Given the description of an element on the screen output the (x, y) to click on. 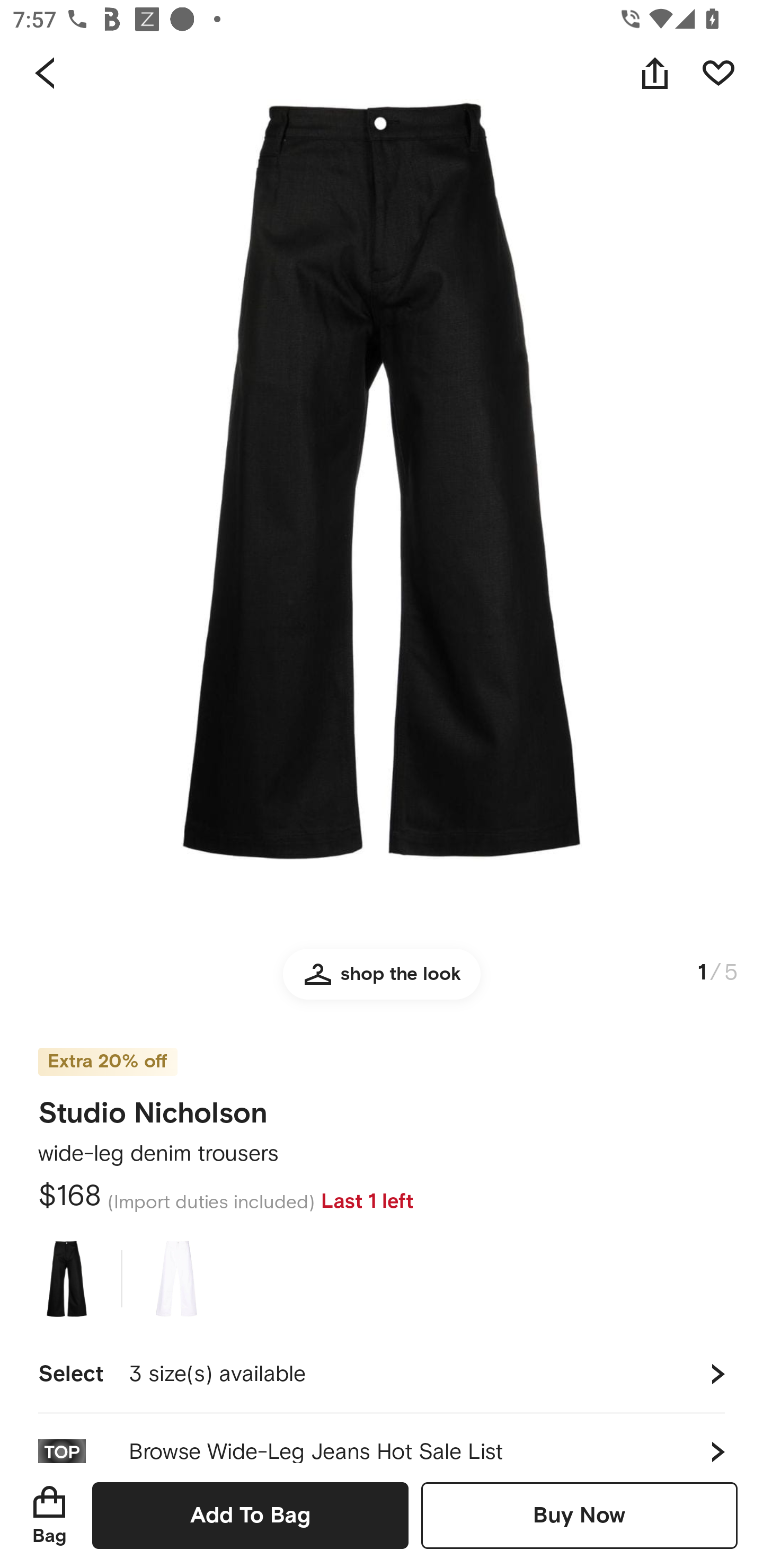
shop the look (381, 982)
Extra 20% off (107, 1049)
Studio Nicholson (152, 1107)
Select 3 size(s) available (381, 1373)
Browse Wide-Leg Jeans Hot Sale List (381, 1438)
Bag (49, 1515)
Add To Bag (250, 1515)
Buy Now (579, 1515)
